Given the description of an element on the screen output the (x, y) to click on. 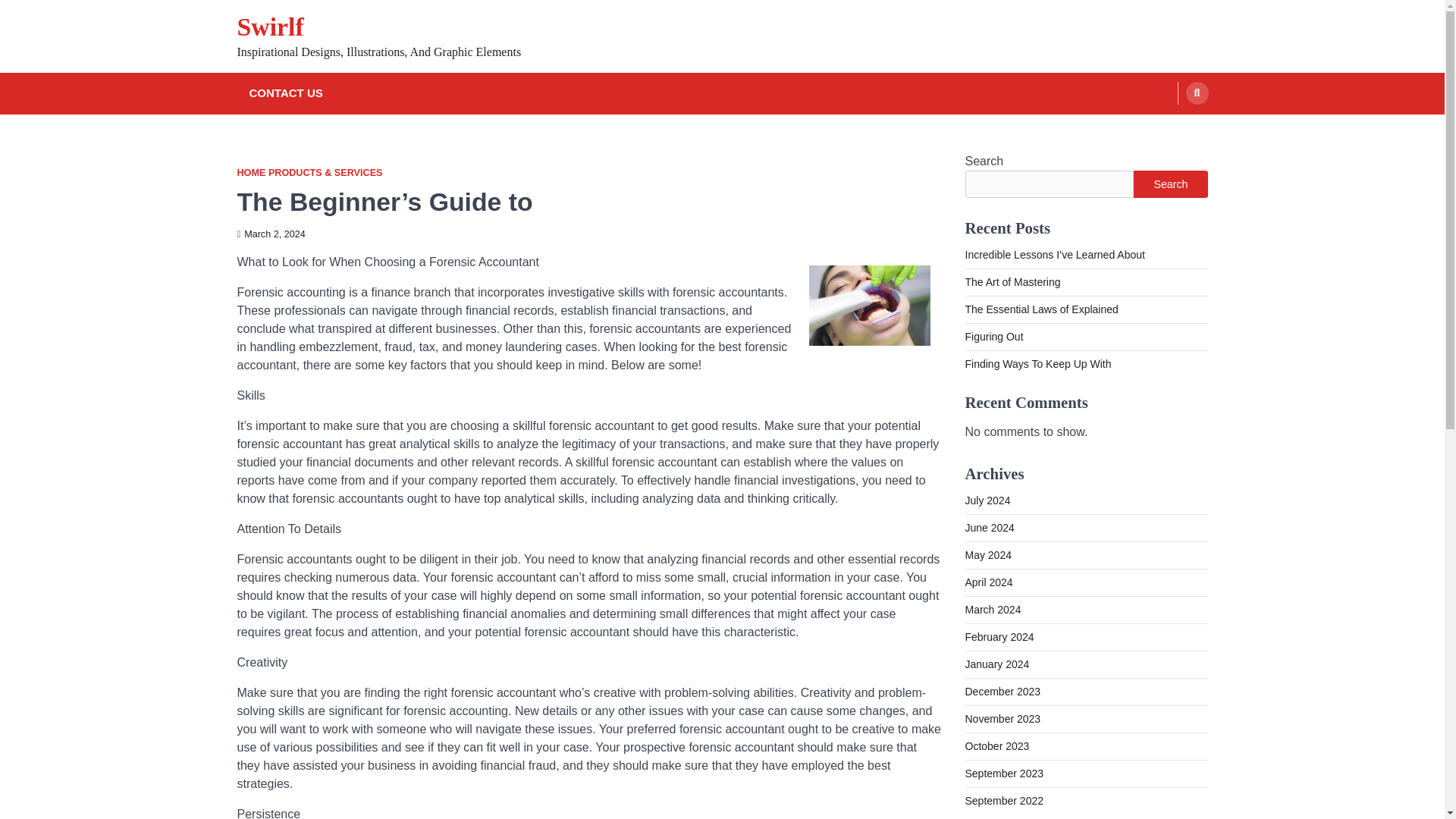
January 2024 (996, 664)
March 2, 2024 (269, 234)
March 2024 (991, 609)
Search (1168, 128)
Finding Ways To Keep Up With (1036, 363)
September 2023 (1003, 773)
May 2024 (986, 554)
The Art of Mastering (1011, 282)
September 2022 (1003, 800)
July 2024 (986, 500)
CONTACT US (286, 93)
April 2024 (987, 582)
Search (1197, 92)
November 2023 (1002, 718)
October 2023 (996, 746)
